Given the description of an element on the screen output the (x, y) to click on. 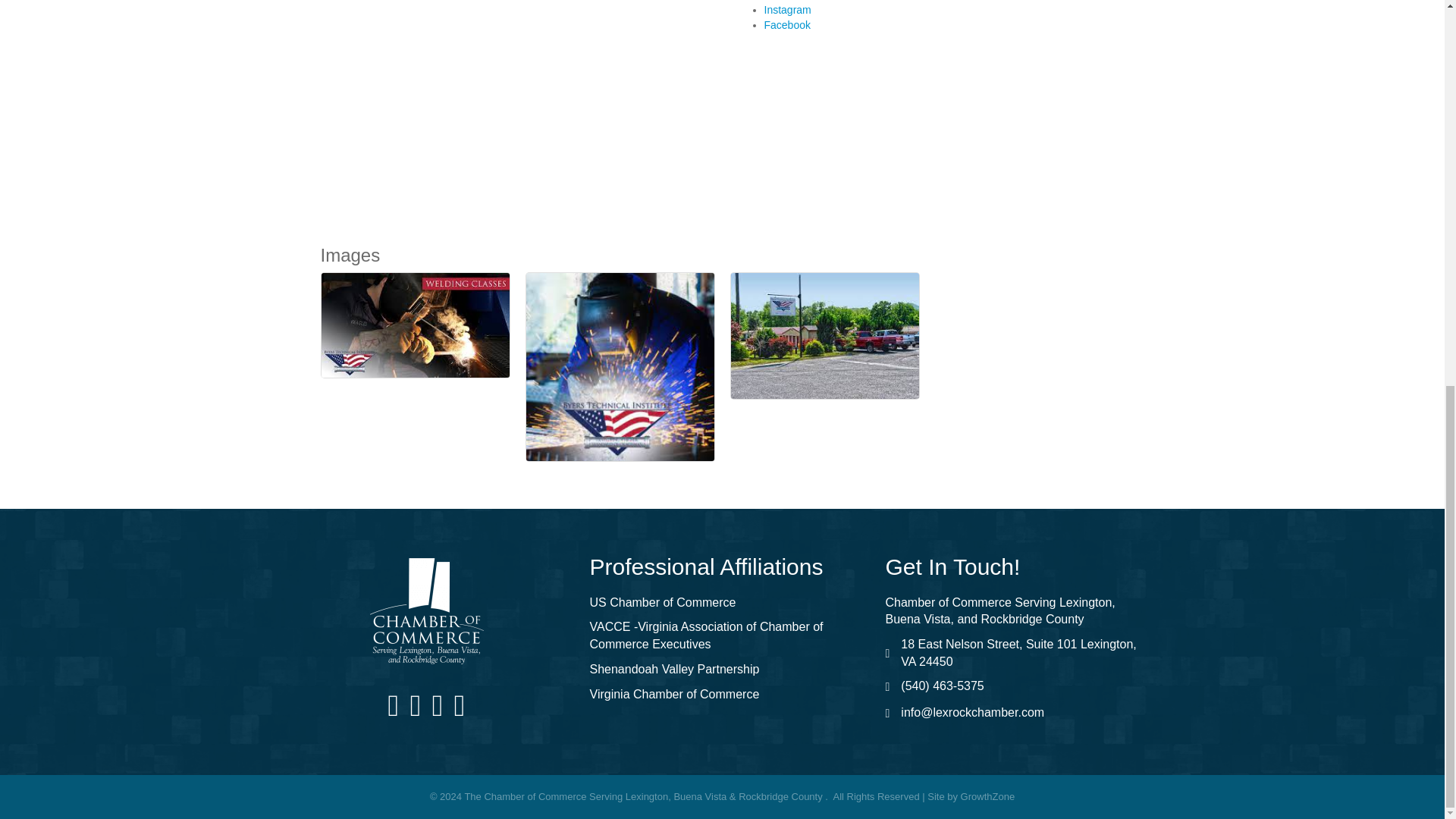
White Chamber Logo (426, 611)
Gallery Image Byers3.jpeg (824, 335)
Gallery Image Byers1.jpeg (415, 325)
Gallery Image Byers2.jpeg (619, 366)
